Given the description of an element on the screen output the (x, y) to click on. 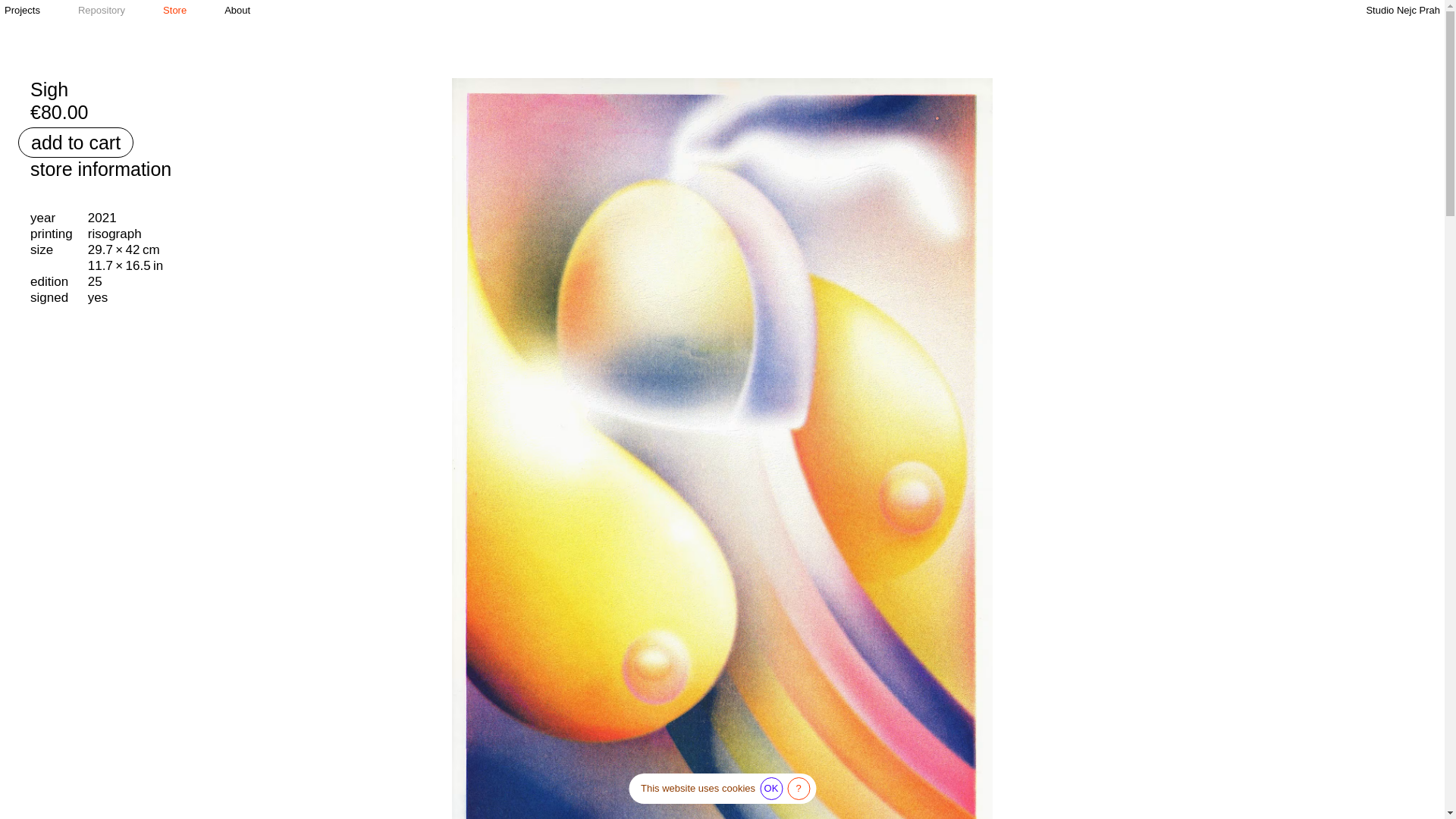
? (798, 788)
store information (100, 168)
Studio Nejc Prah (1402, 10)
About (237, 10)
Repository (101, 10)
Store (174, 10)
add to cart (75, 142)
Projects (22, 10)
